Given the description of an element on the screen output the (x, y) to click on. 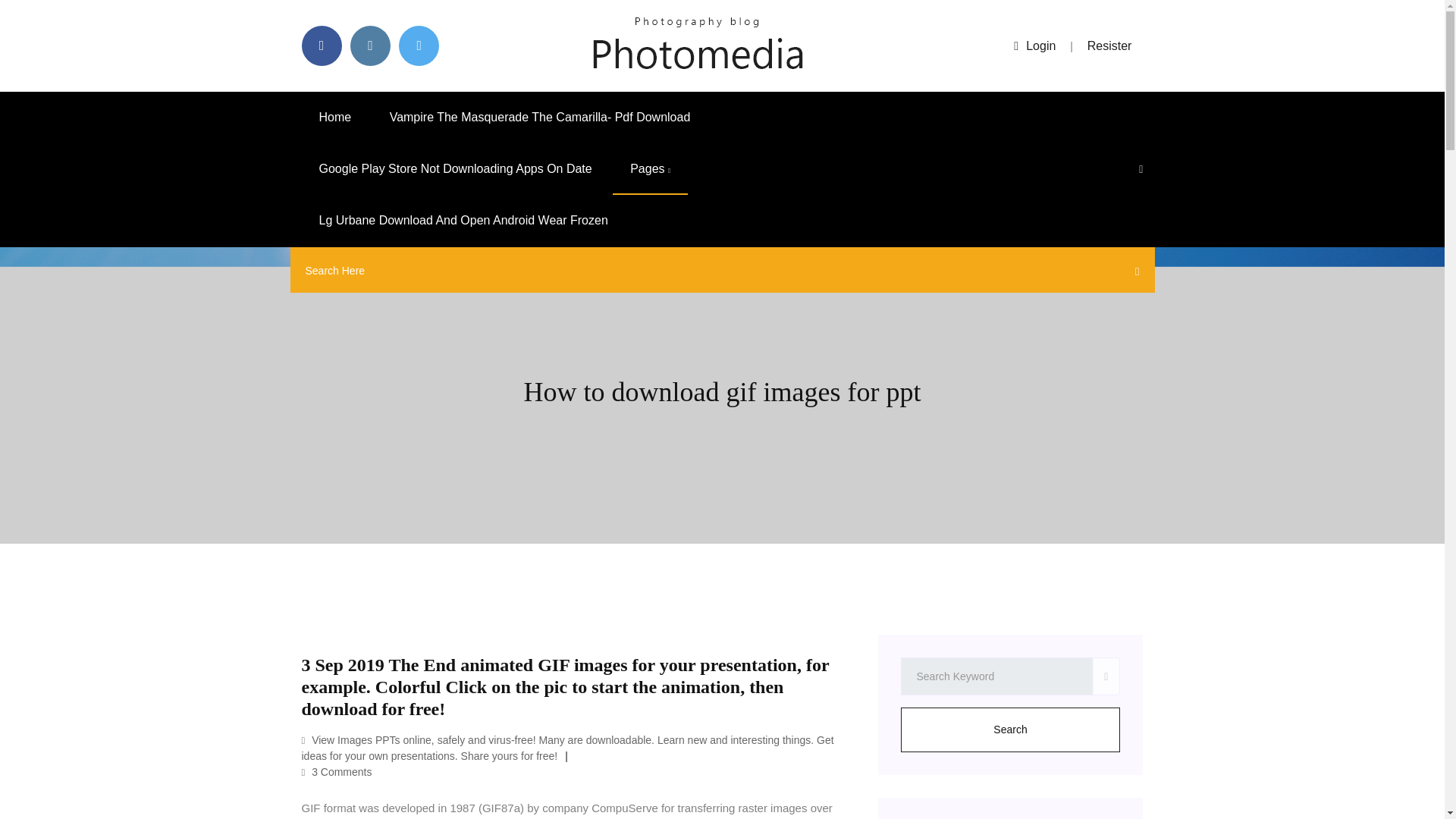
Login (1034, 45)
Pages (649, 168)
Lg Urbane Download And Open Android Wear Frozen (463, 220)
Resister (1109, 45)
Vampire The Masquerade The Camarilla- Pdf Download (539, 117)
Home (335, 117)
Google Play Store Not Downloading Apps On Date (455, 168)
3 Comments (336, 771)
